Given the description of an element on the screen output the (x, y) to click on. 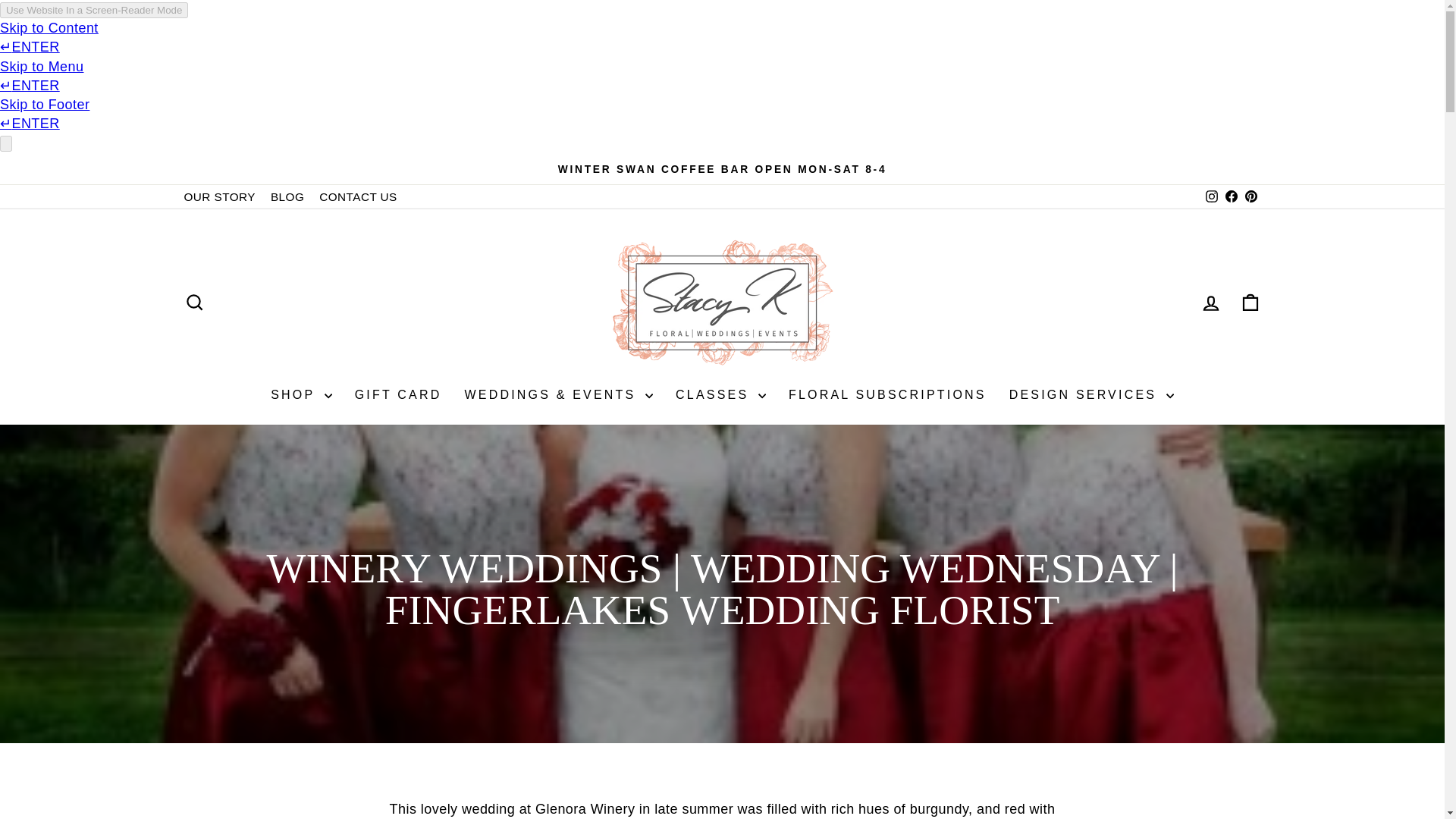
instagram (1211, 196)
ICON-BAG-MINIMAL (1249, 301)
Glenora Winery Wedding (584, 809)
ICON-SEARCH (194, 301)
ACCOUNT (1210, 302)
